Given the description of an element on the screen output the (x, y) to click on. 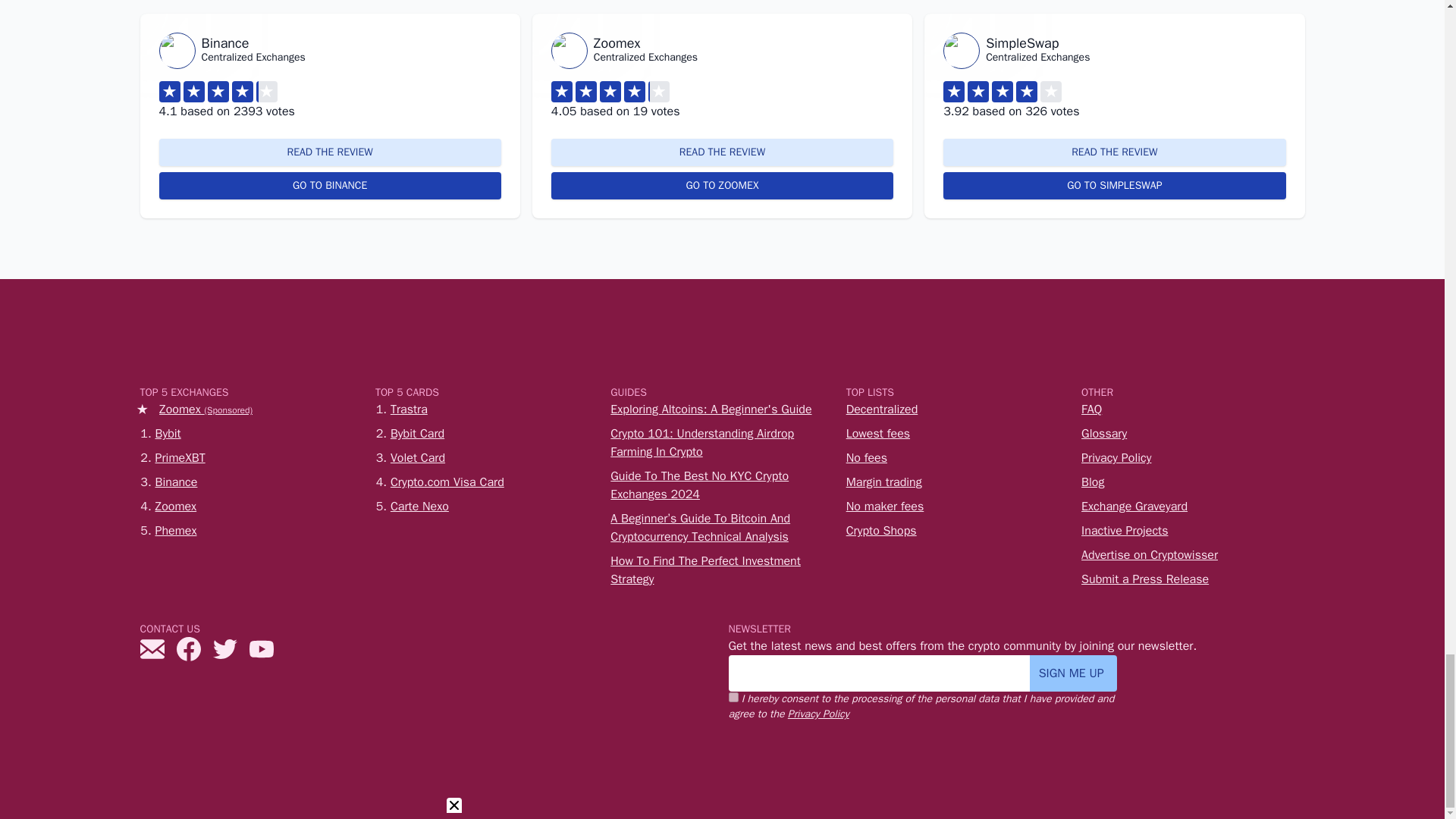
0 (733, 696)
